Given the description of an element on the screen output the (x, y) to click on. 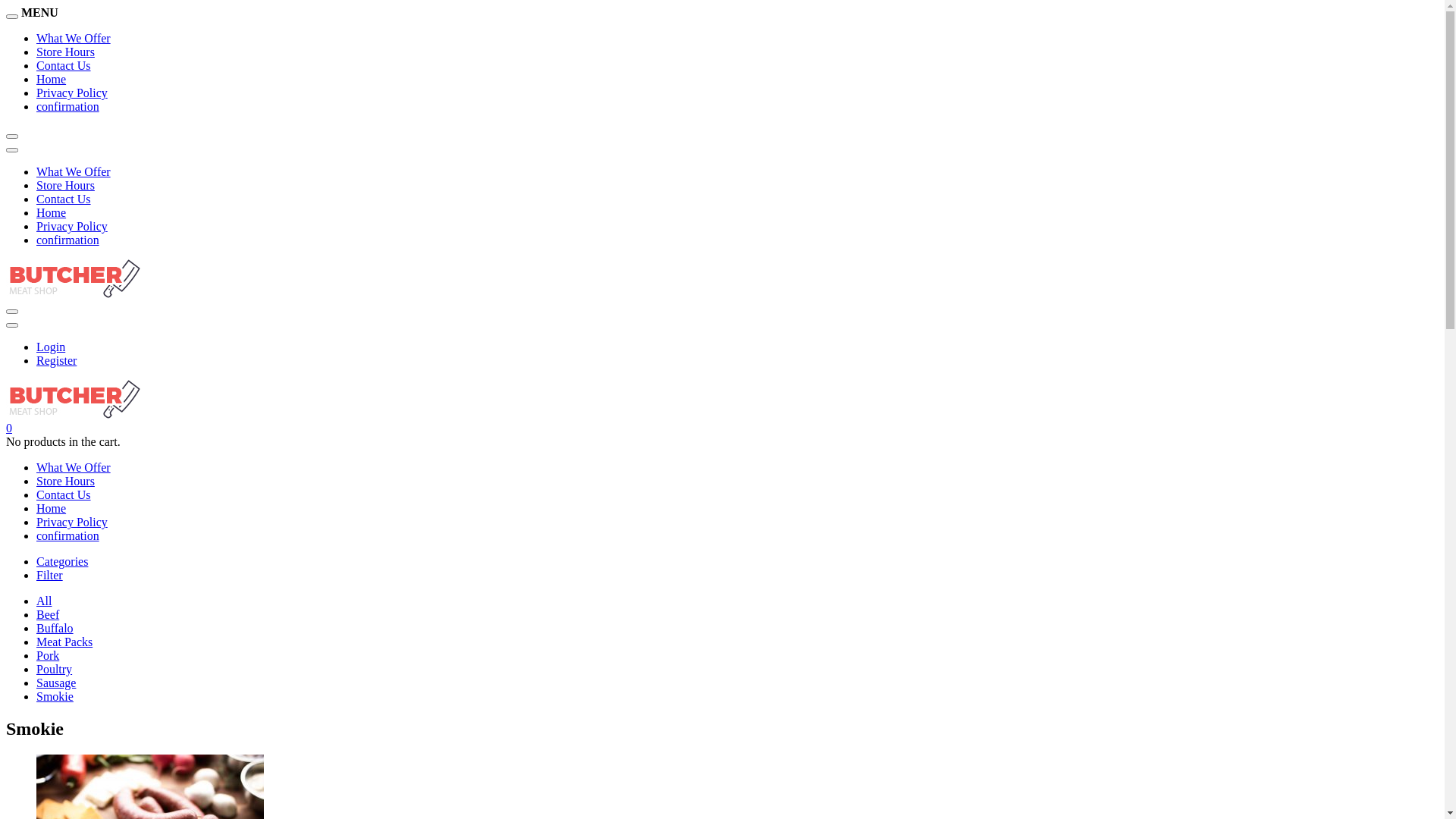
Home Element type: text (50, 508)
Store Hours Element type: text (65, 184)
Contact Us Element type: text (63, 65)
Privacy Policy Element type: text (71, 521)
Buffalo Element type: text (54, 627)
What We Offer Element type: text (73, 37)
Pork Element type: text (47, 655)
Contact Us Element type: text (63, 494)
confirmation Element type: text (67, 106)
Sausage Element type: text (55, 682)
Meat Packs Element type: text (64, 641)
Poultry Element type: text (54, 668)
confirmation Element type: text (67, 535)
Filter Element type: text (49, 574)
Contact Us Element type: text (63, 198)
confirmation Element type: text (67, 239)
Privacy Policy Element type: text (71, 225)
All Element type: text (43, 600)
What We Offer Element type: text (73, 171)
Register Element type: text (56, 360)
Store Hours Element type: text (65, 480)
Home Element type: text (50, 78)
Privacy Policy Element type: text (71, 92)
Store Hours Element type: text (65, 51)
Beef Element type: text (47, 614)
Categories Element type: text (61, 561)
Smokie Element type: text (54, 696)
Login Element type: text (50, 346)
What We Offer Element type: text (73, 467)
0 Element type: text (9, 427)
Home Element type: text (50, 212)
